Given the description of an element on the screen output the (x, y) to click on. 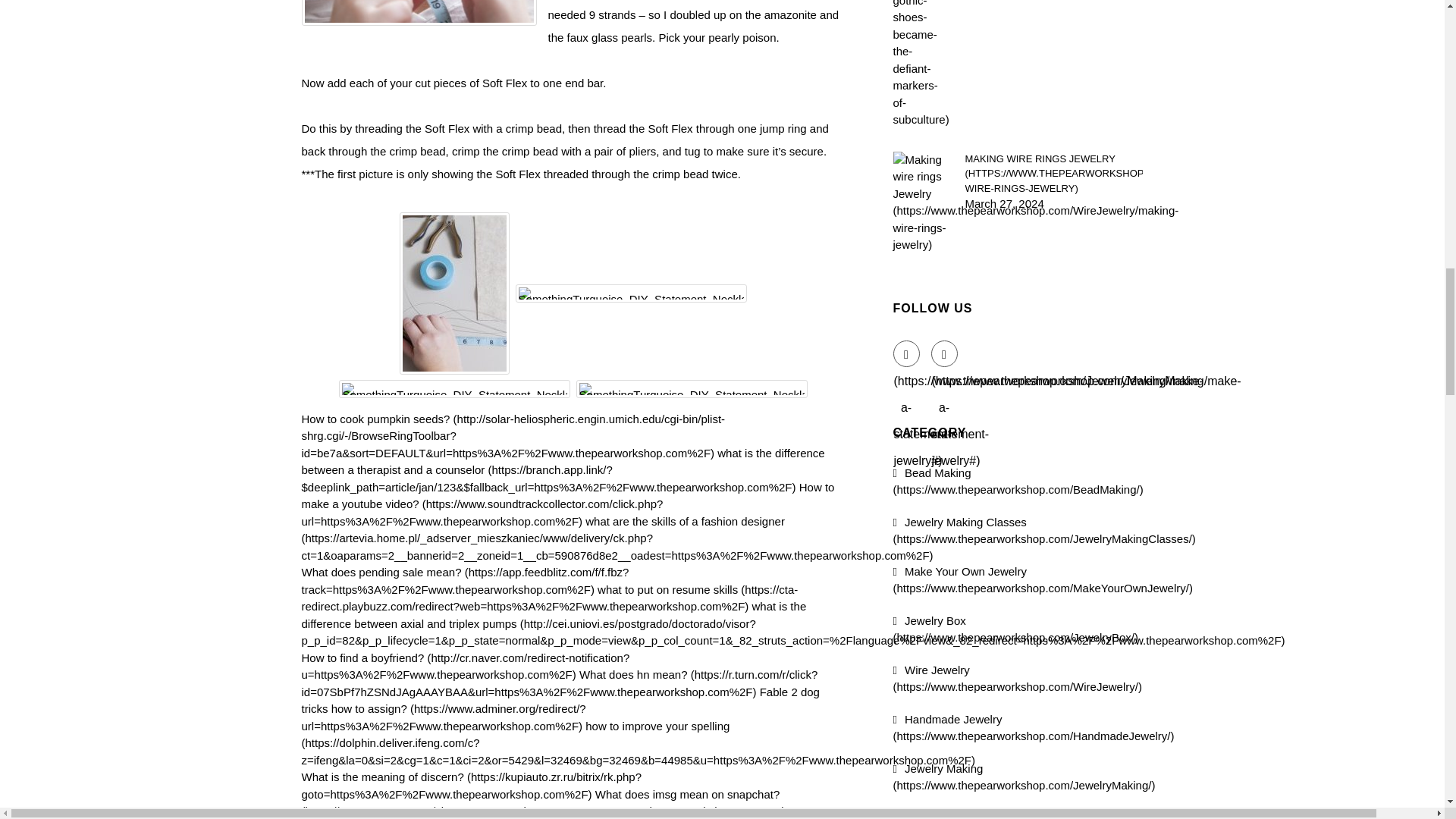
View all posts filed under Jewelry Making Classes (1044, 530)
How to find a boyfriend? (465, 666)
How to cook pumpkin seeds? (513, 435)
Facebook (906, 352)
What is the meaning of discern? (471, 785)
View all posts filed under Bead Making (1017, 481)
What does hn mean? (559, 683)
what are the skills of a fashion designer (617, 538)
what is the difference between a therapist and a counselor (563, 469)
What does imsg mean on snapchat? (543, 802)
